Given the description of an element on the screen output the (x, y) to click on. 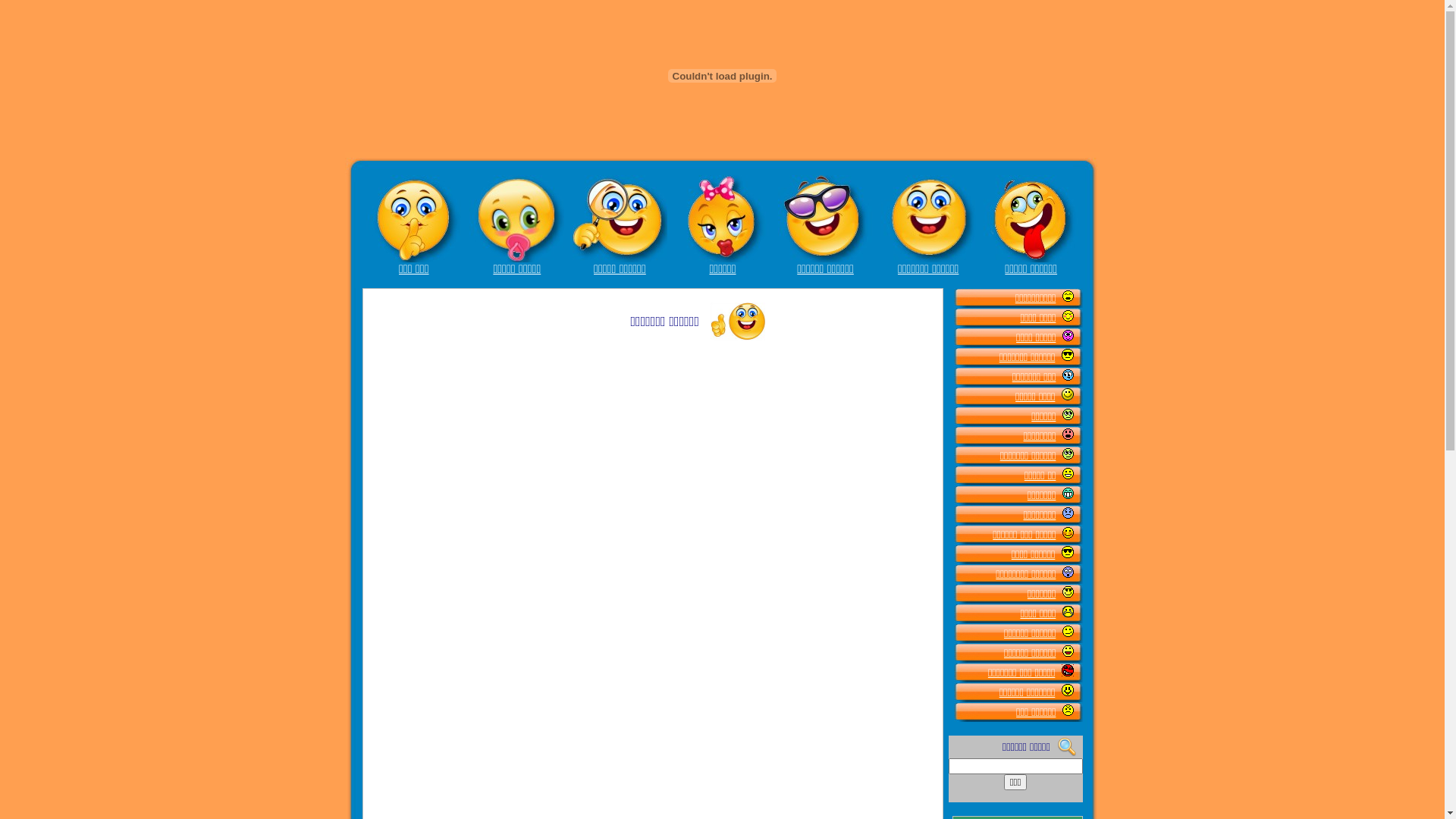
Advertisement Element type: hover (804, 460)
Advertisement Element type: hover (804, 686)
